Given the description of an element on the screen output the (x, y) to click on. 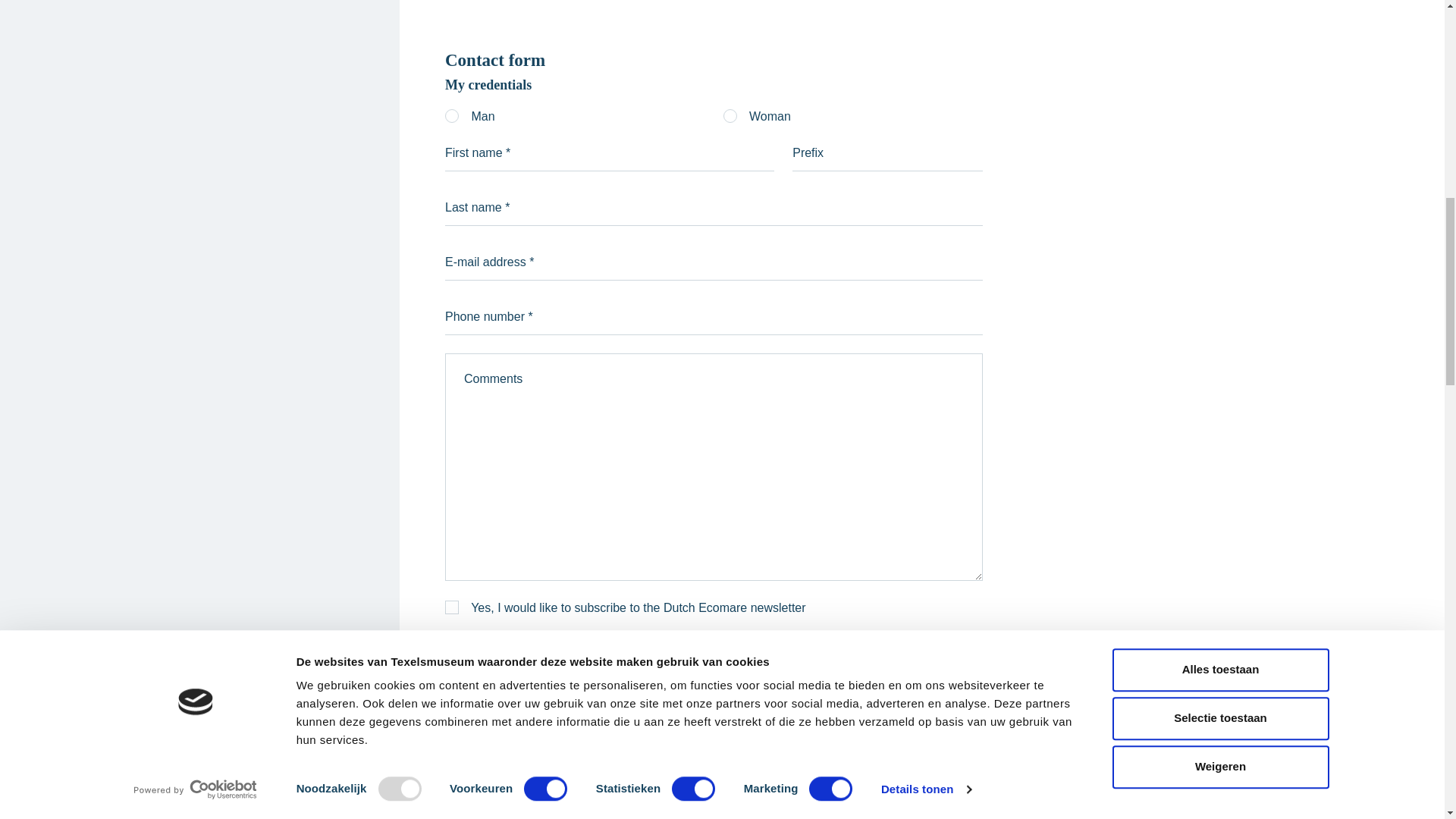
Ja (451, 607)
vrouw (729, 115)
Send (947, 660)
man (451, 115)
